Given the description of an element on the screen output the (x, y) to click on. 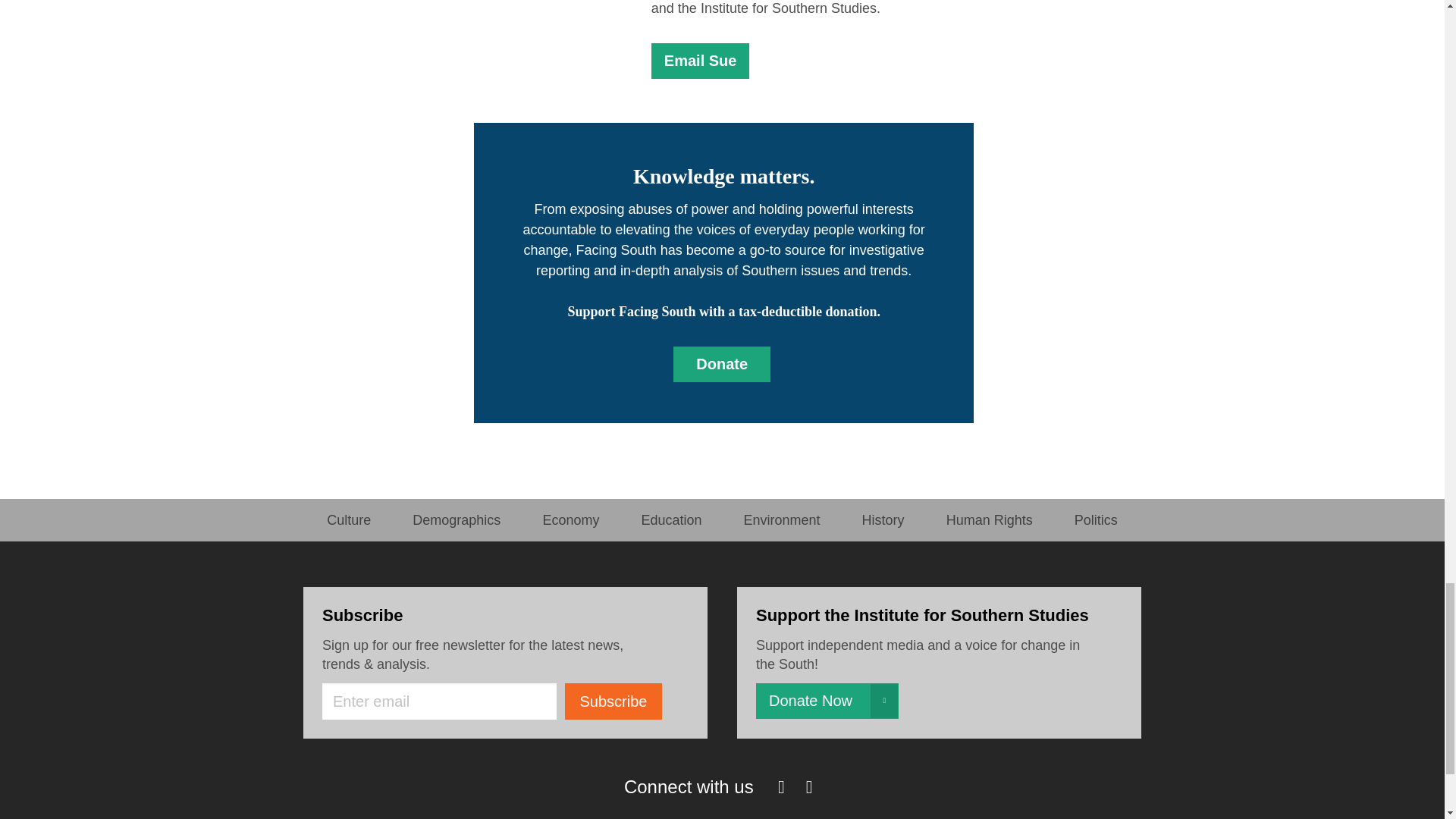
Subscribe (613, 701)
